Given the description of an element on the screen output the (x, y) to click on. 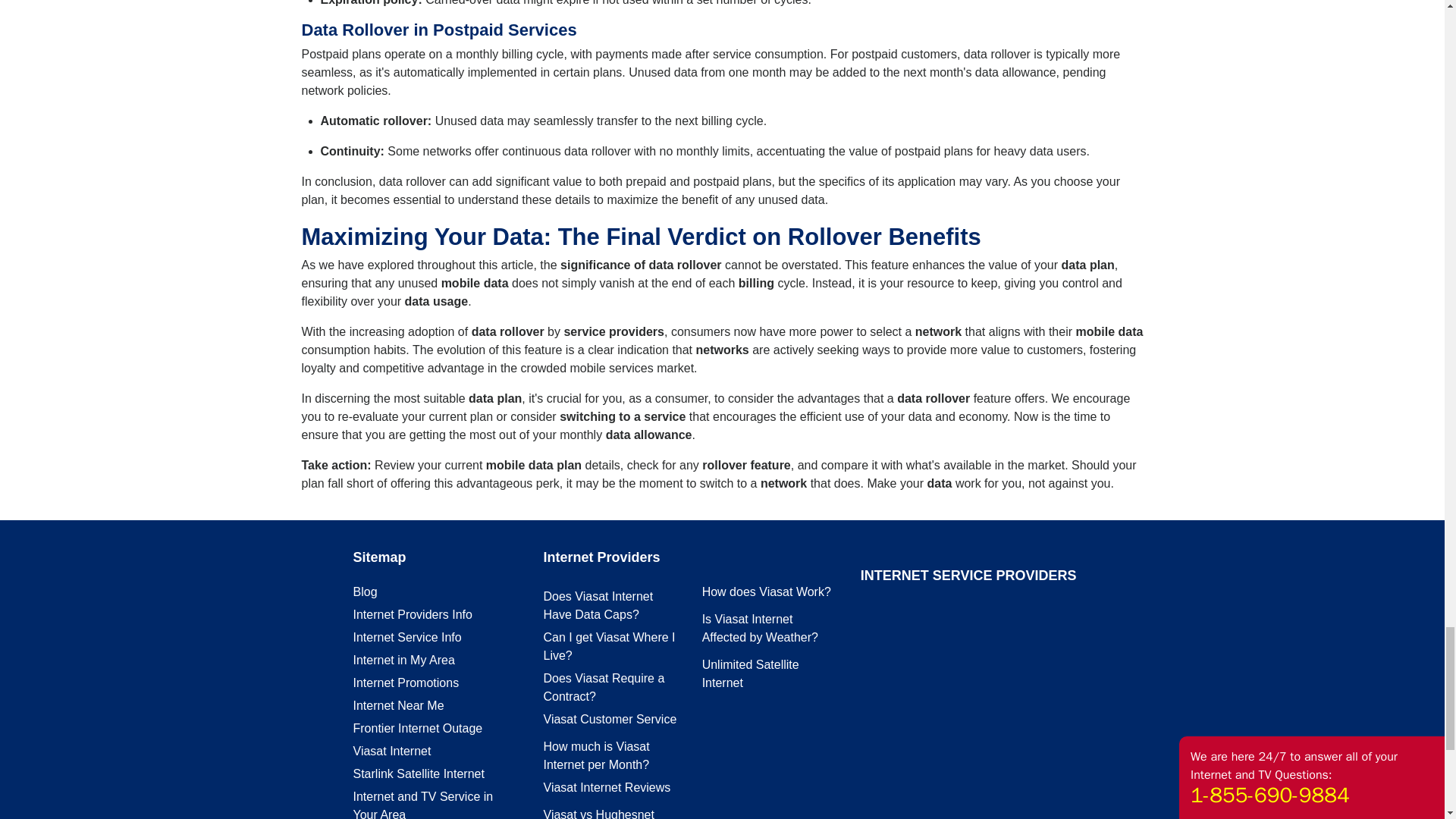
How does Viasat Work? (766, 591)
Does Viasat Require a Contract? (603, 686)
Internet Near Me (398, 705)
Can I get Viasat Where I Live? (609, 645)
Viasat Internet Reviews (606, 787)
Does Viasat Internet Have Data Caps? (597, 604)
Starlink Satellite Internet (418, 773)
Internet Promotions (406, 682)
Viasat vs Hughesnet (598, 813)
Internet Providers Info (412, 614)
Internet Service Info (407, 636)
Internet in My Area (403, 659)
Internet and TV Service in Your Area (423, 804)
Blog (365, 591)
How much is Viasat Internet per Month? (596, 755)
